Given the description of an element on the screen output the (x, y) to click on. 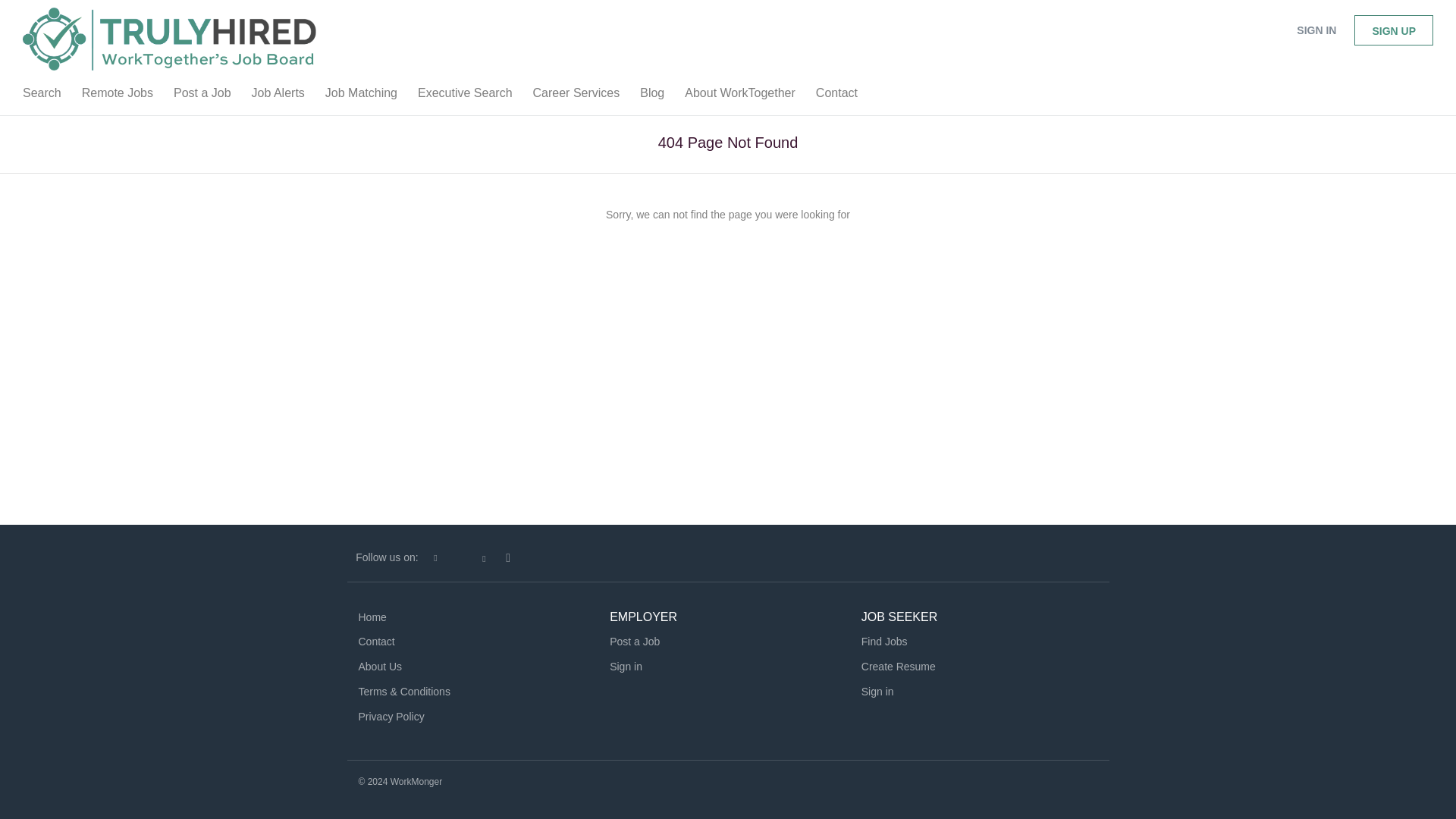
Remote Jobs (117, 96)
Career Services (576, 96)
Search (41, 96)
About Us (379, 666)
Executive Search (464, 96)
   Follow us on: (386, 557)
About WorkTogether (740, 96)
Contact (376, 641)
Create Resume (898, 666)
Sign in (877, 691)
